Given the description of an element on the screen output the (x, y) to click on. 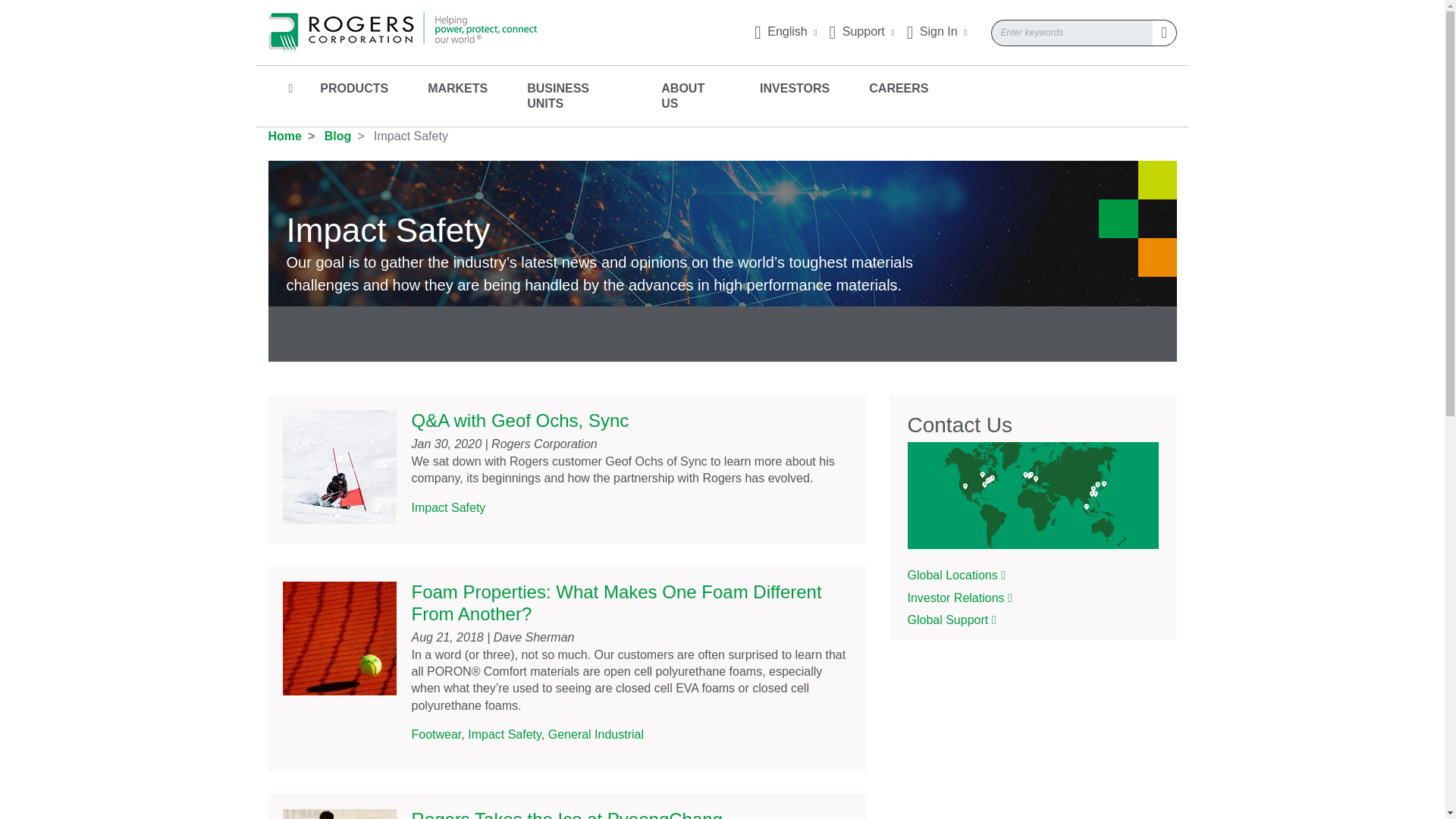
PRODUCTS (354, 81)
Support (862, 31)
English (785, 31)
Sign In (937, 31)
